Given the description of an element on the screen output the (x, y) to click on. 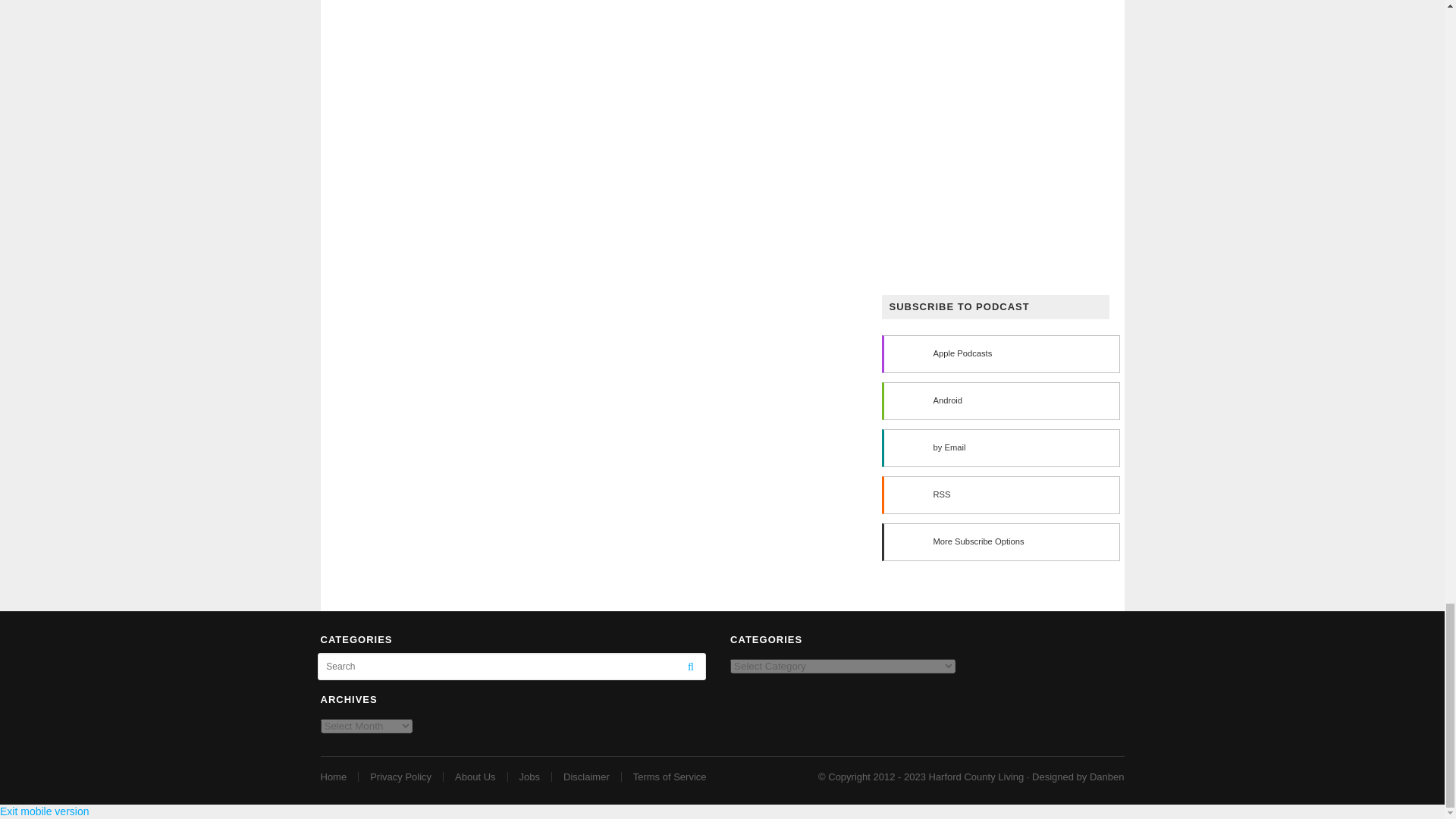
Subscribe by Email (999, 447)
Subscribe on Apple Podcasts (999, 353)
More Subscribe Options (999, 542)
Subscribe on Android (999, 401)
Subscribe via RSS (999, 494)
Content Protection by DMCA.com (365, 685)
